Given the description of an element on the screen output the (x, y) to click on. 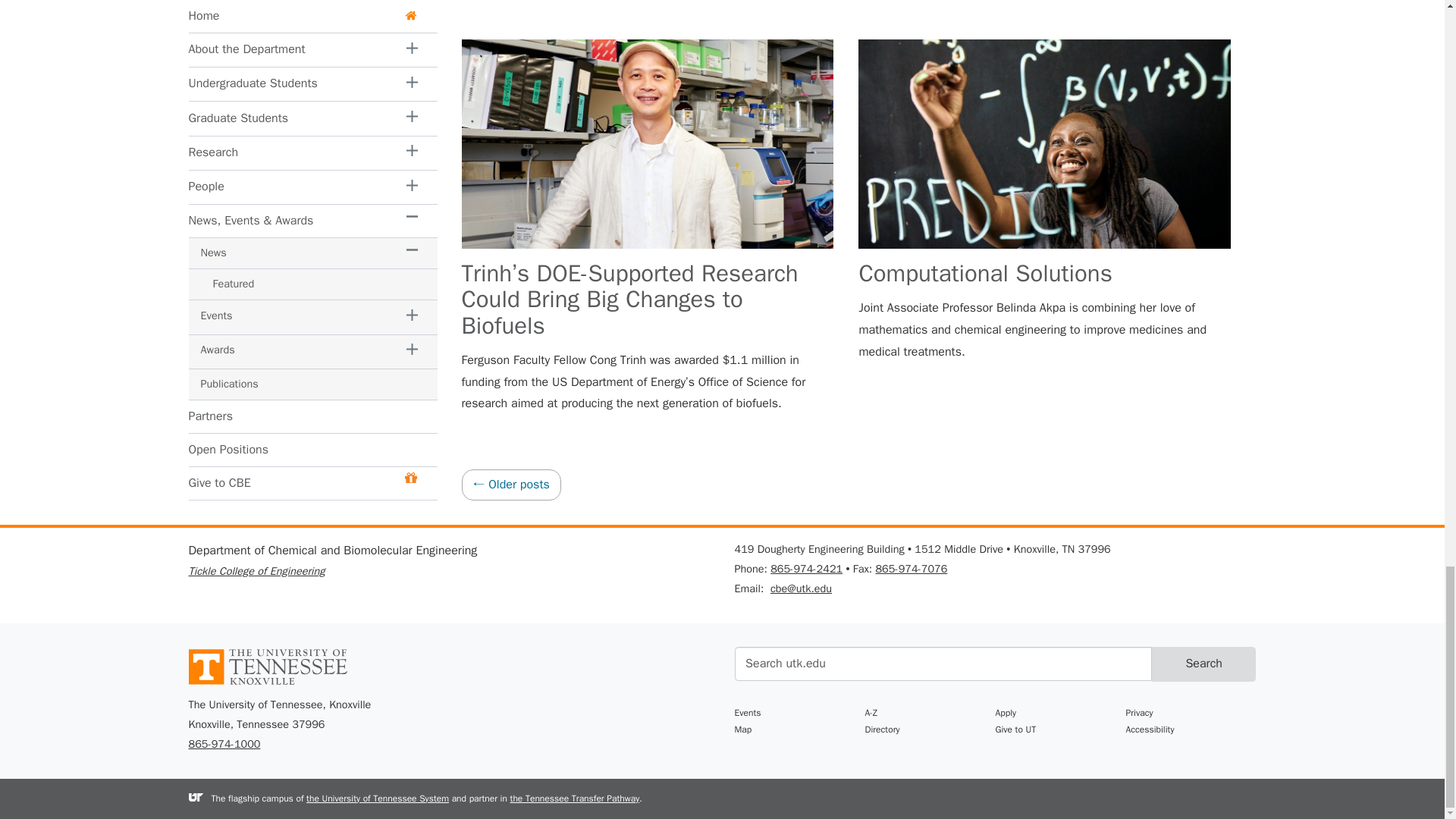
Search utk.edu (942, 663)
search (942, 663)
Search (1203, 664)
Submit (1203, 664)
